Given the description of an element on the screen output the (x, y) to click on. 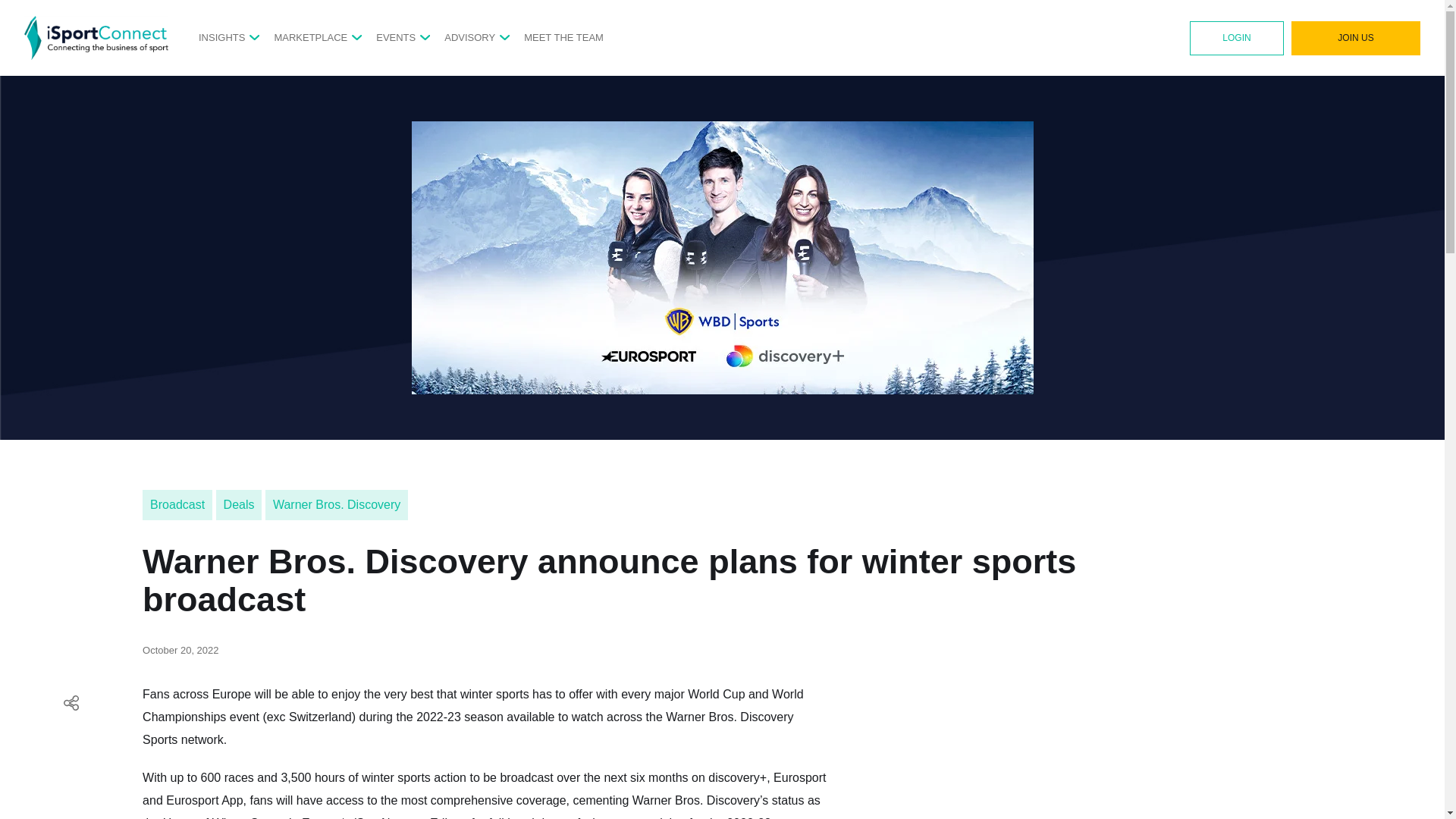
EVENTS (394, 37)
MARKETPLACE (310, 37)
MEET THE TEAM (564, 37)
LOGIN (1236, 38)
JOIN US (1356, 38)
INSIGHTS (221, 37)
ADVISORY (469, 37)
